Given the description of an element on the screen output the (x, y) to click on. 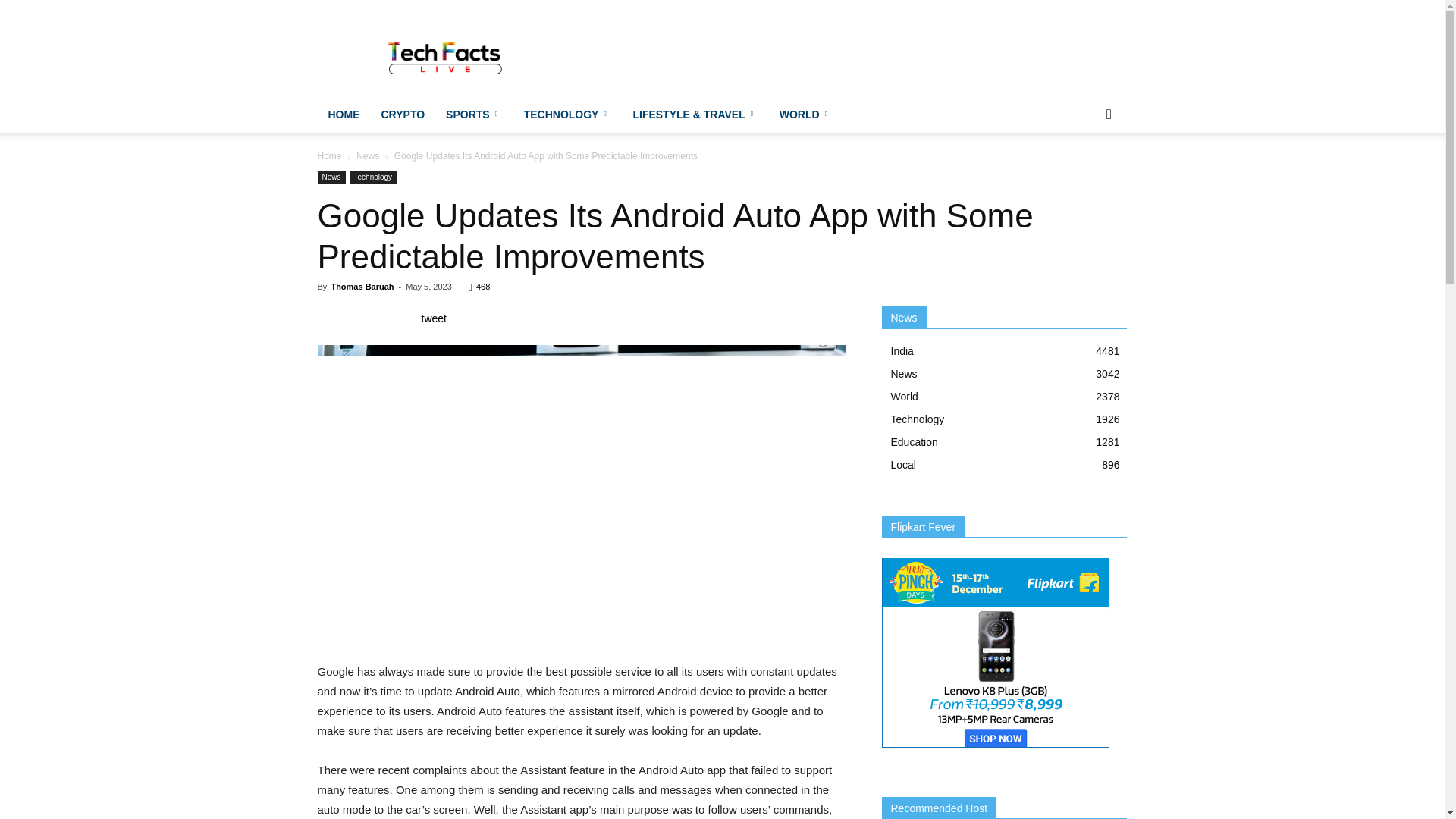
View all posts in News (367, 155)
TF Live (446, 55)
TECHNOLOGY (568, 114)
HOME (343, 114)
WORLD (805, 114)
CRYPTO (402, 114)
SPORTS (474, 114)
